Given the description of an element on the screen output the (x, y) to click on. 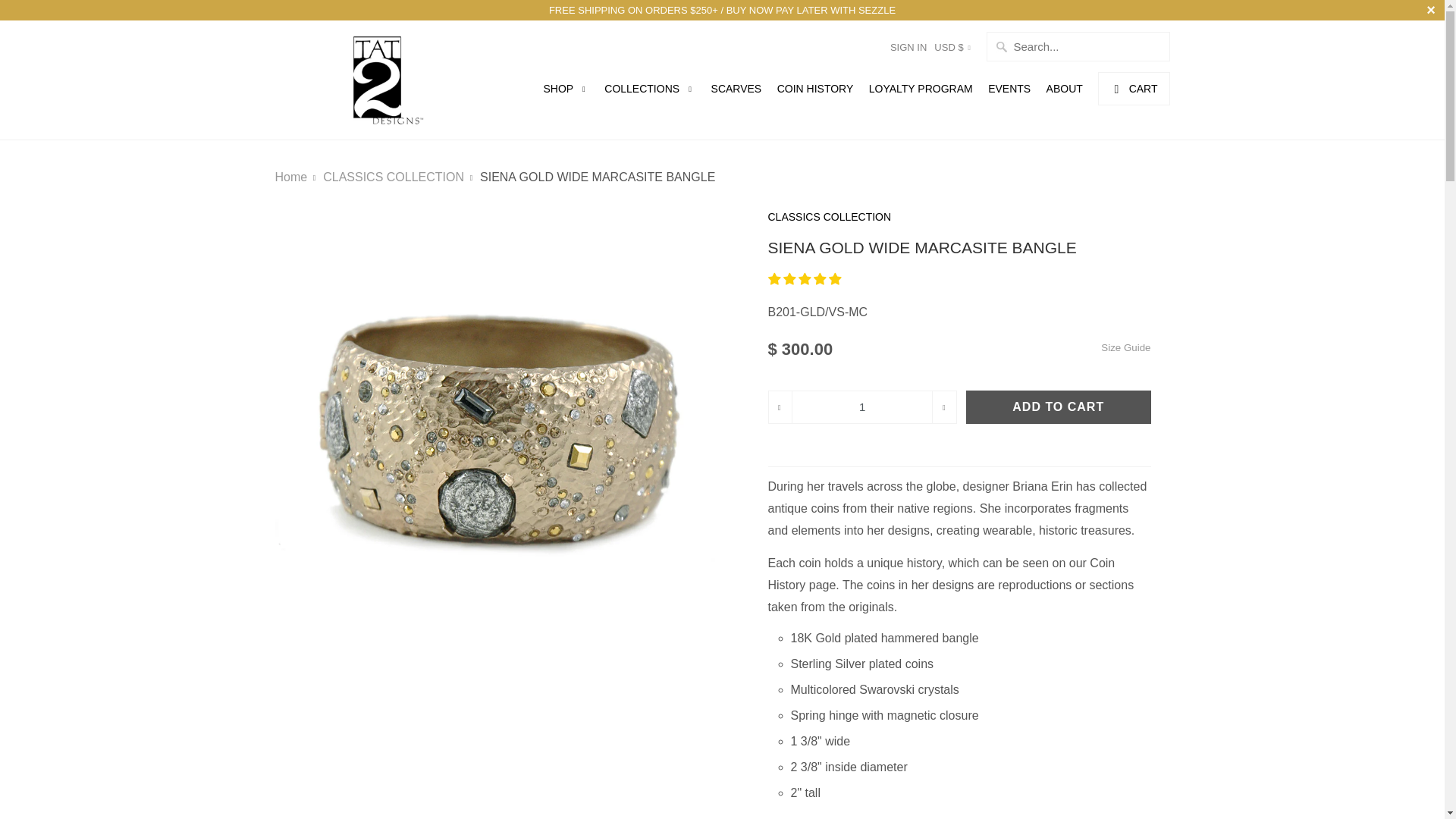
BZD (970, 675)
ANG (970, 221)
Tat2 Designs (380, 79)
BSD (970, 605)
BOB (970, 570)
CAD (970, 710)
BBD (970, 396)
BGN (970, 466)
Tat2 Designs (291, 176)
BAM (970, 361)
My Account (907, 47)
CDF (970, 745)
1 (862, 407)
CNY (970, 808)
